Given the description of an element on the screen output the (x, y) to click on. 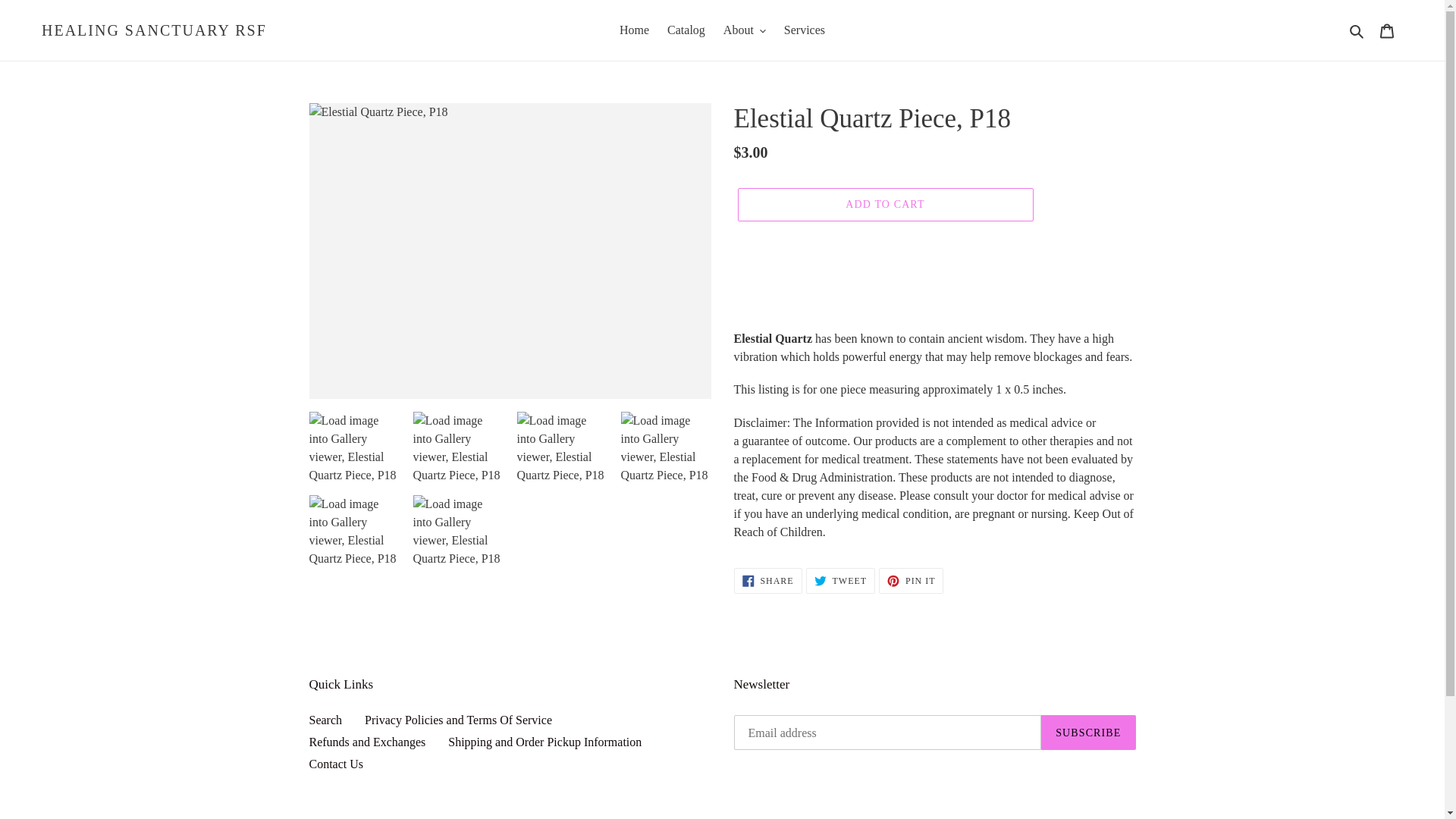
About (744, 29)
Services (804, 29)
Search (1357, 30)
ADD TO CART (884, 204)
HEALING SANCTUARY RSF (154, 30)
Home (633, 29)
Cart (1387, 29)
Catalog (686, 29)
